Given the description of an element on the screen output the (x, y) to click on. 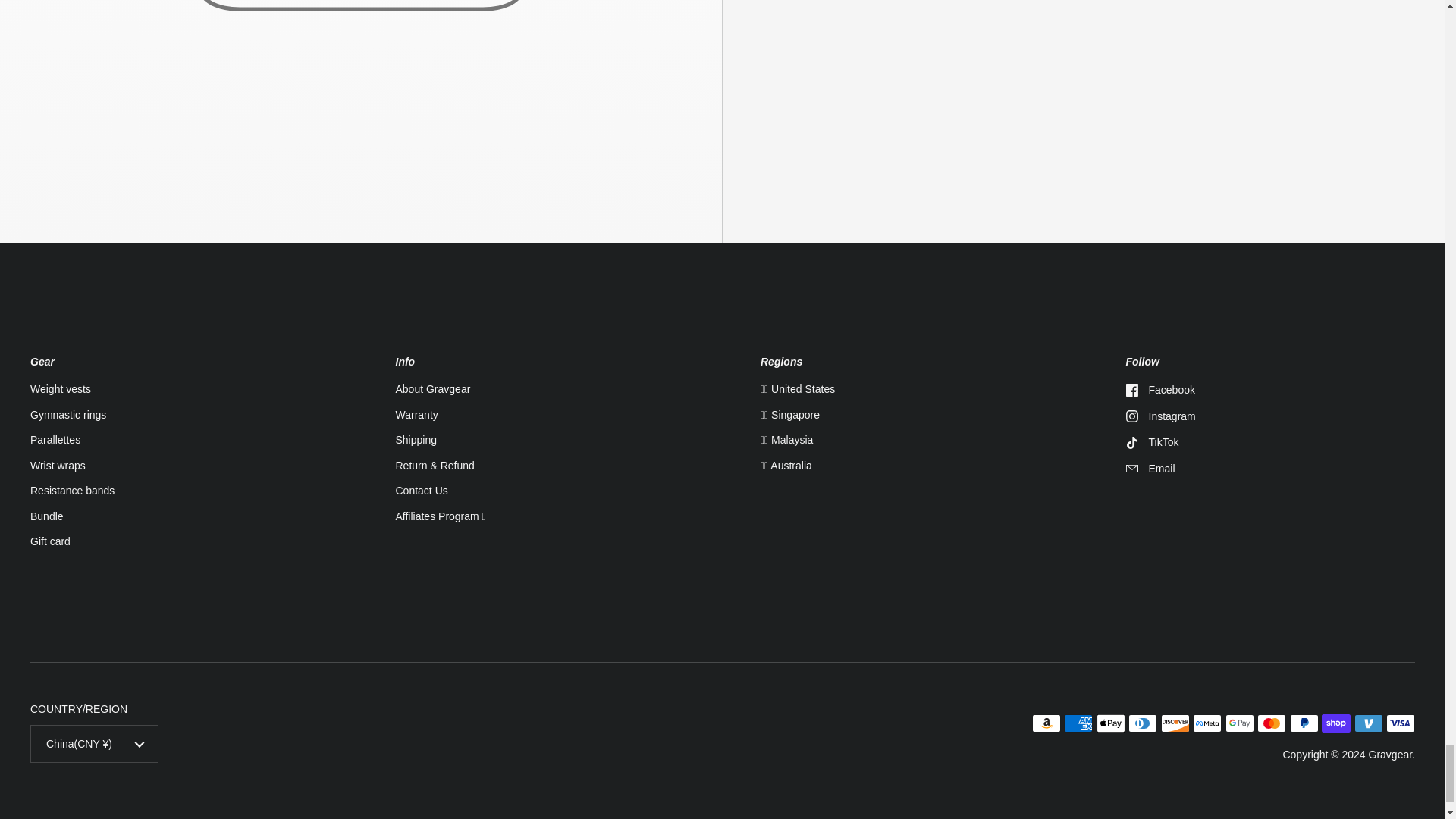
Bundle (47, 517)
Mastercard (1271, 723)
Google Pay (1239, 723)
Email (1270, 468)
Meta Pay (1206, 723)
Amazon (1046, 723)
Visa (1400, 723)
Resistance bands (72, 491)
Shop Pay (1336, 723)
Weight vests (60, 390)
Facebook (1270, 390)
Instagram (1270, 416)
Discover (1174, 723)
Gymnastic rings (68, 415)
Warranty (417, 415)
